Given the description of an element on the screen output the (x, y) to click on. 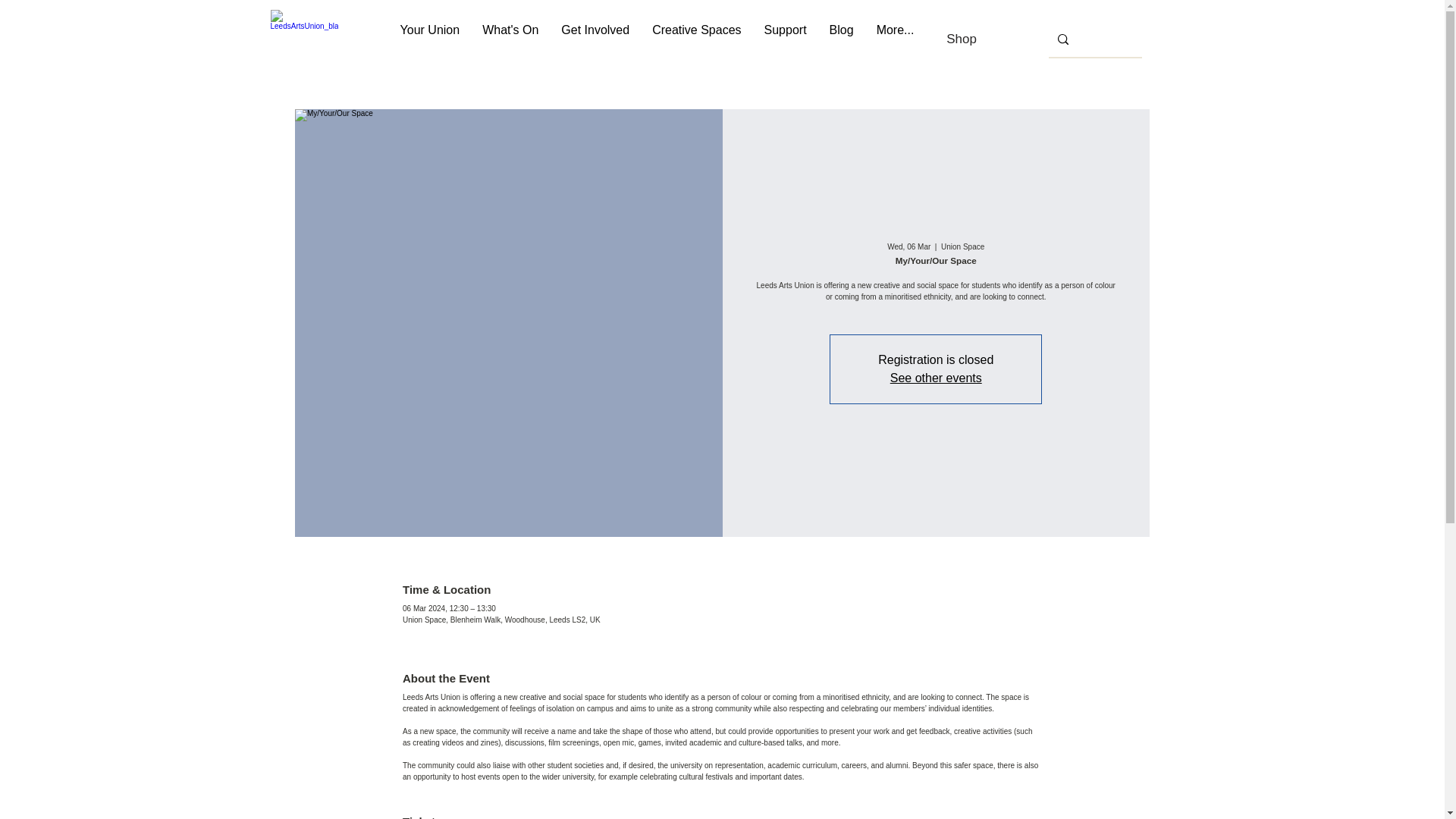
Shop (961, 38)
Your Union (429, 39)
Blog (841, 39)
Support (785, 39)
Creative Spaces (696, 39)
Get Involved (595, 39)
See other events (935, 377)
What's On (510, 39)
